Given the description of an element on the screen output the (x, y) to click on. 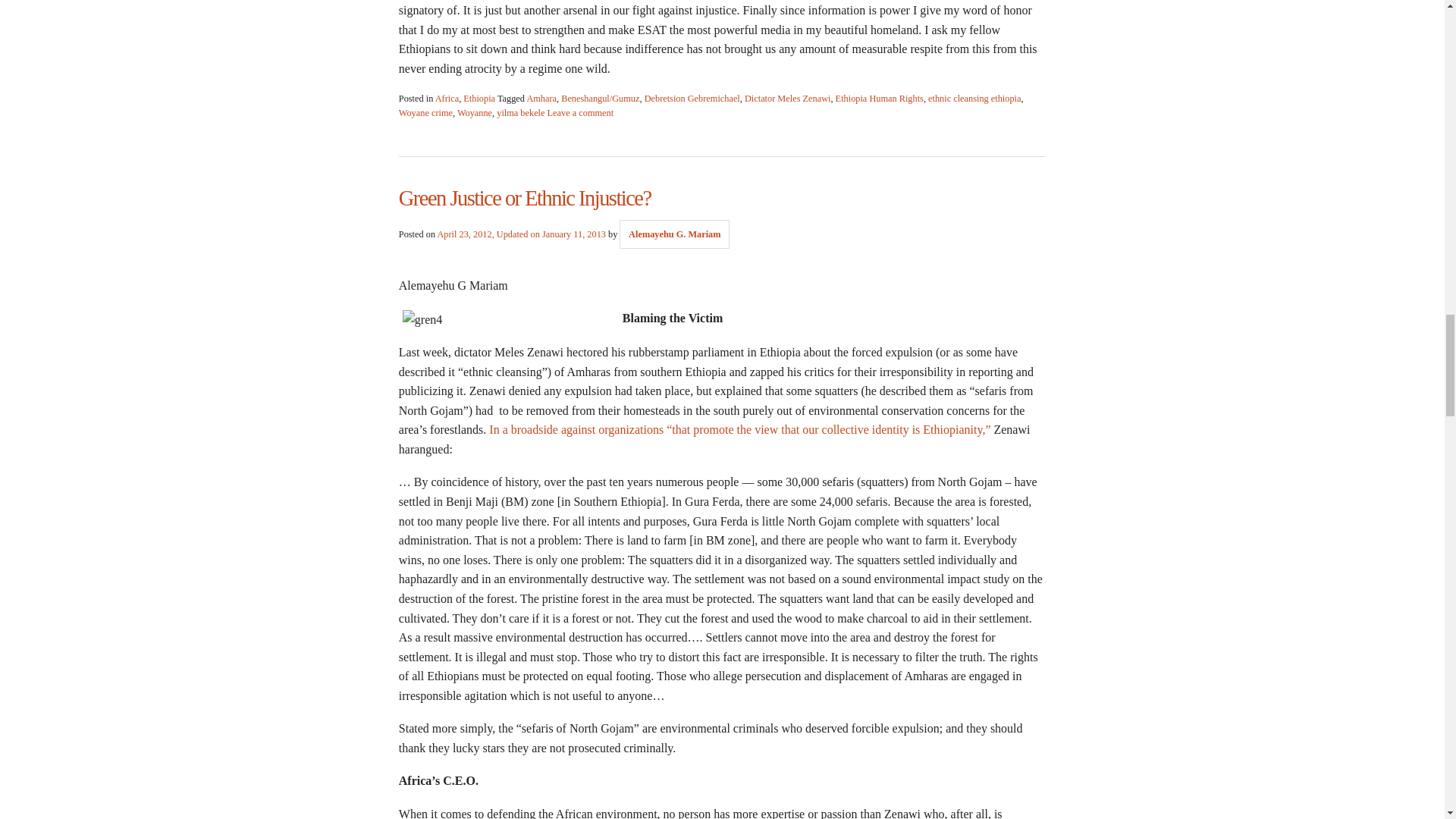
Dictator Meles Zenawi (787, 98)
Ethiopia Human Rights (879, 98)
Amhara (540, 98)
yilma bekele (520, 112)
Woyane crime (425, 112)
Debretsion Gebremichael (692, 98)
Alemayehu G. Mariam (674, 234)
Woyanne (474, 112)
Ethiopia (479, 98)
Green Justice or Ethnic Injustice? (524, 197)
April 23, 2012, Updated on January 11, 2013 (520, 234)
Africa (446, 98)
Leave a comment (580, 112)
ethnic cleansing ethiopia (974, 98)
